Given the description of an element on the screen output the (x, y) to click on. 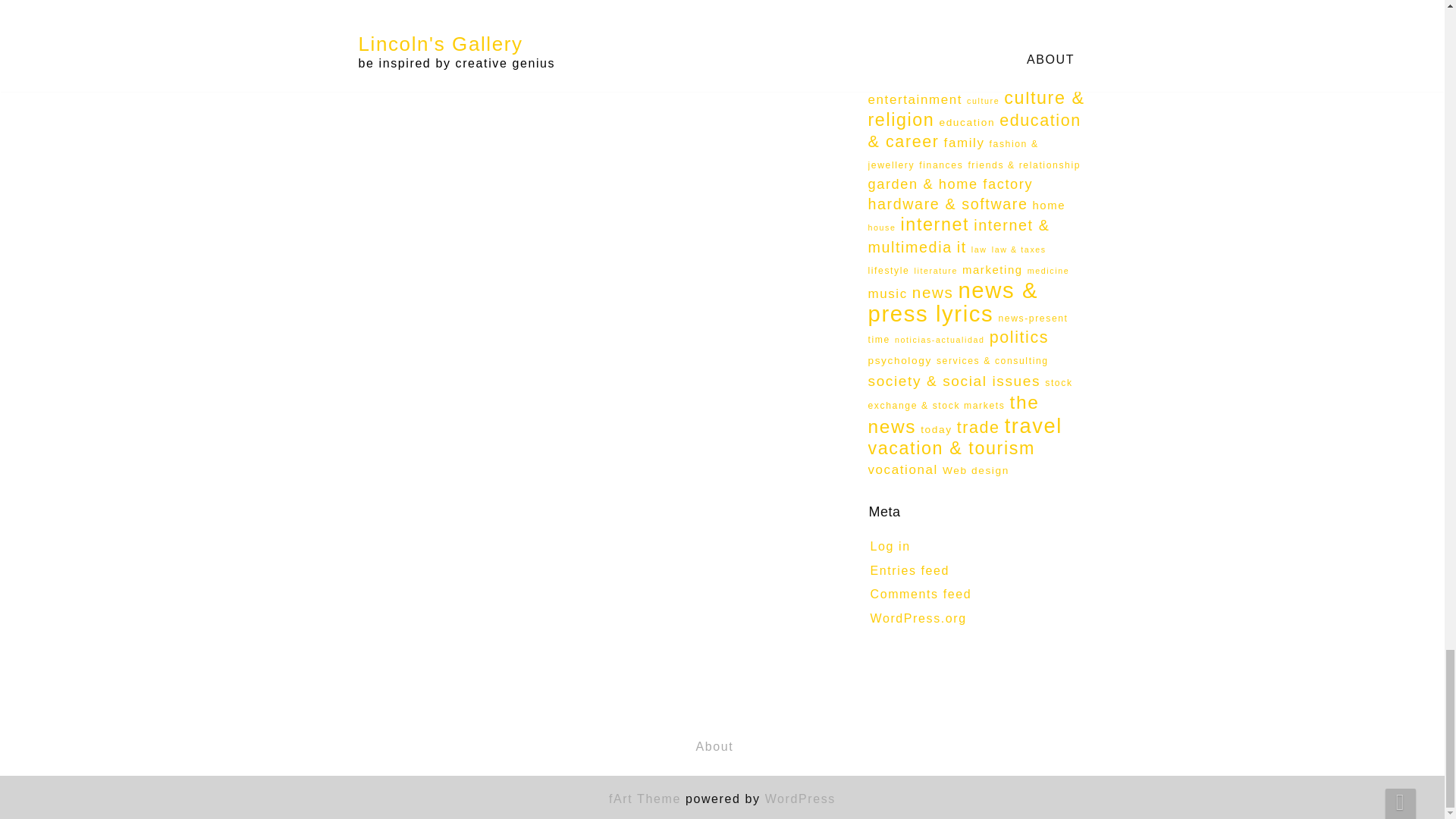
WordPress (800, 798)
fart Theme (644, 798)
